Given the description of an element on the screen output the (x, y) to click on. 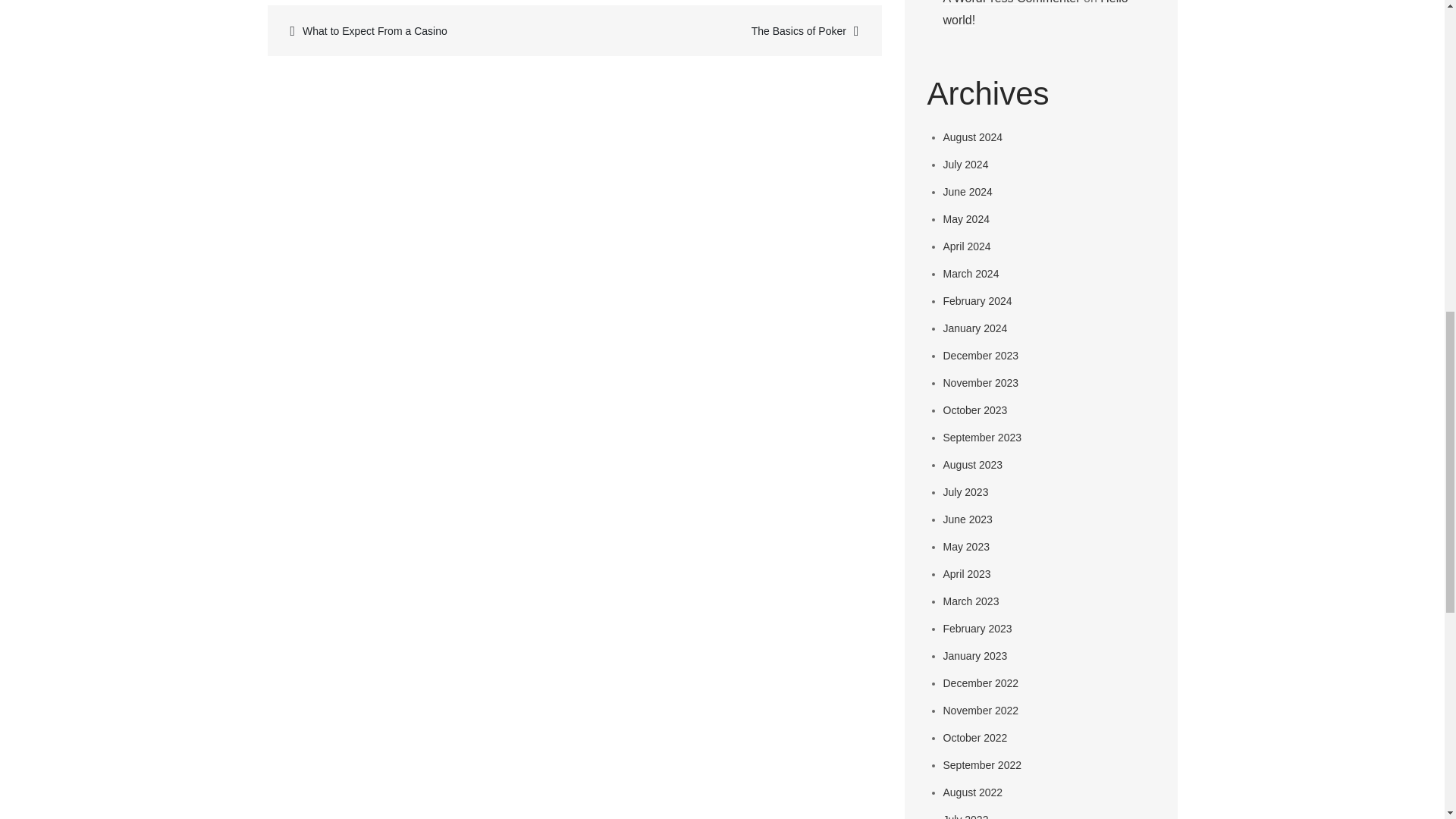
March 2023 (970, 601)
August 2024 (973, 137)
January 2023 (975, 655)
September 2023 (982, 437)
July 2024 (965, 164)
The Basics of Poker (725, 30)
December 2022 (981, 683)
June 2023 (967, 519)
November 2023 (981, 382)
March 2024 (970, 273)
